Given the description of an element on the screen output the (x, y) to click on. 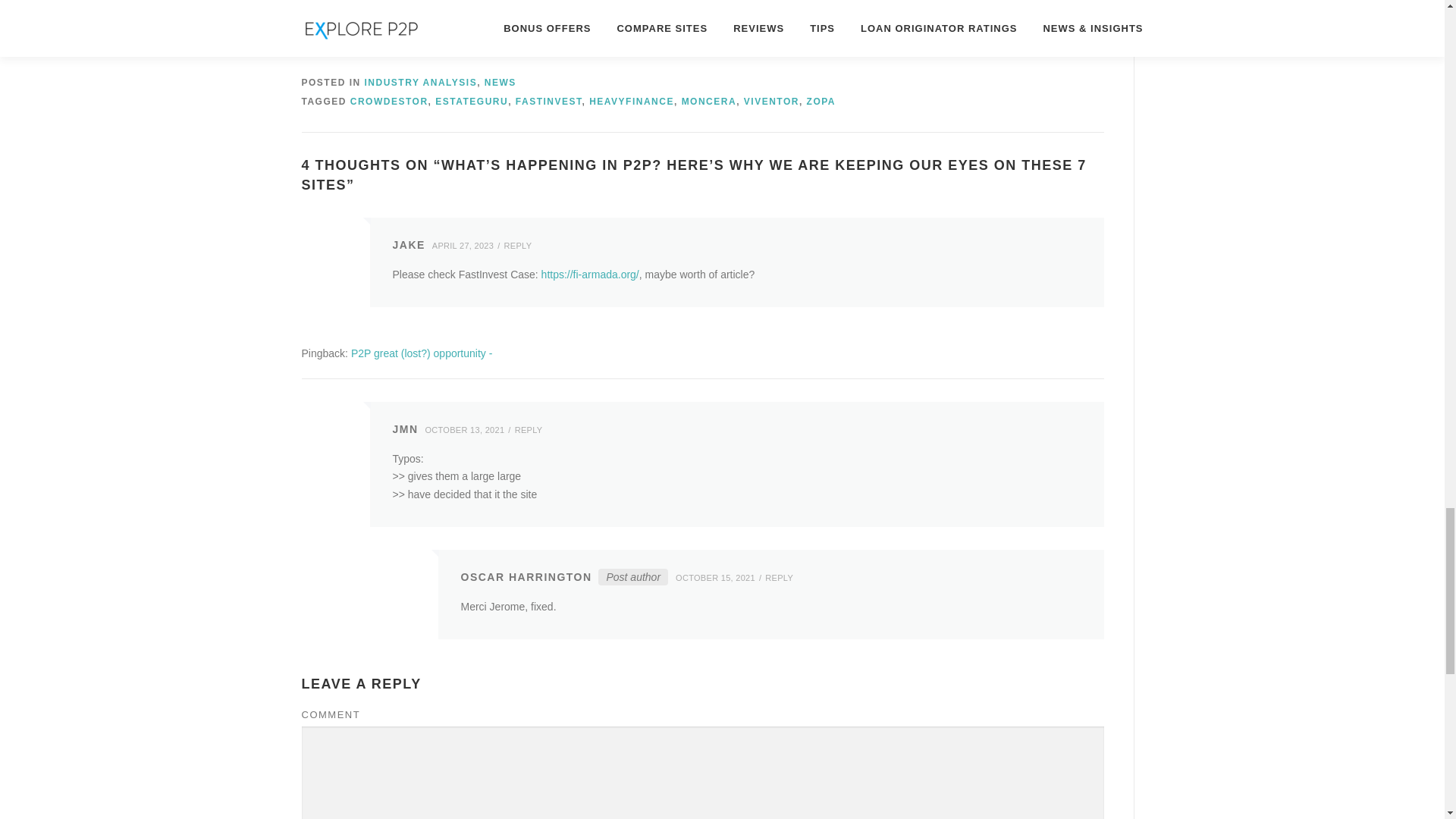
NEWS (500, 81)
CROWDESTOR (389, 101)
ESTATEGURU (471, 101)
INDUSTRY ANALYSIS (421, 81)
MONCERA (708, 101)
FASTINVEST (548, 101)
HEAVYFINANCE (631, 101)
